Given the description of an element on the screen output the (x, y) to click on. 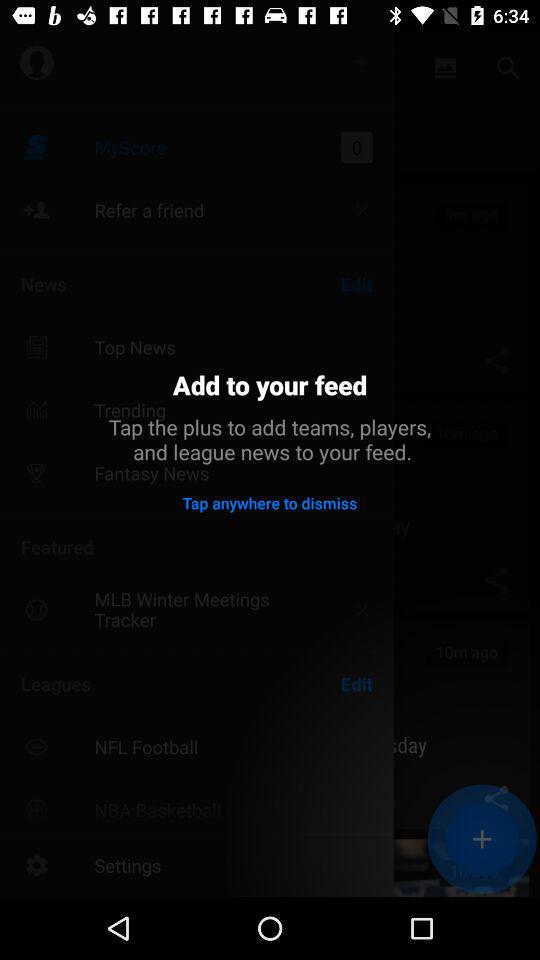
select the symbol in the blue color circle at the bottom right corner of the page (482, 839)
